Given the description of an element on the screen output the (x, y) to click on. 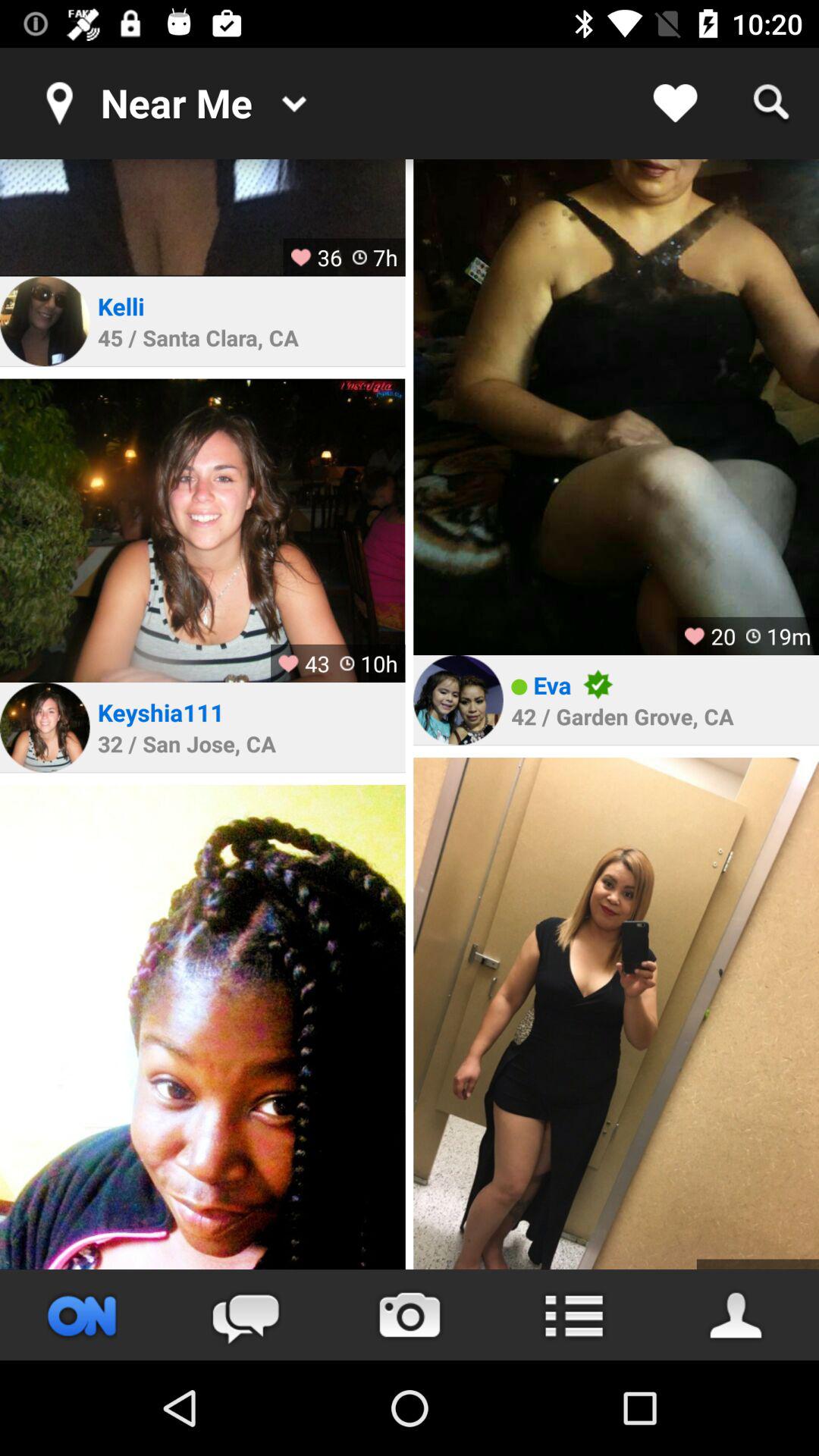
select icon above the 45 santa clara (123, 306)
